Given the description of an element on the screen output the (x, y) to click on. 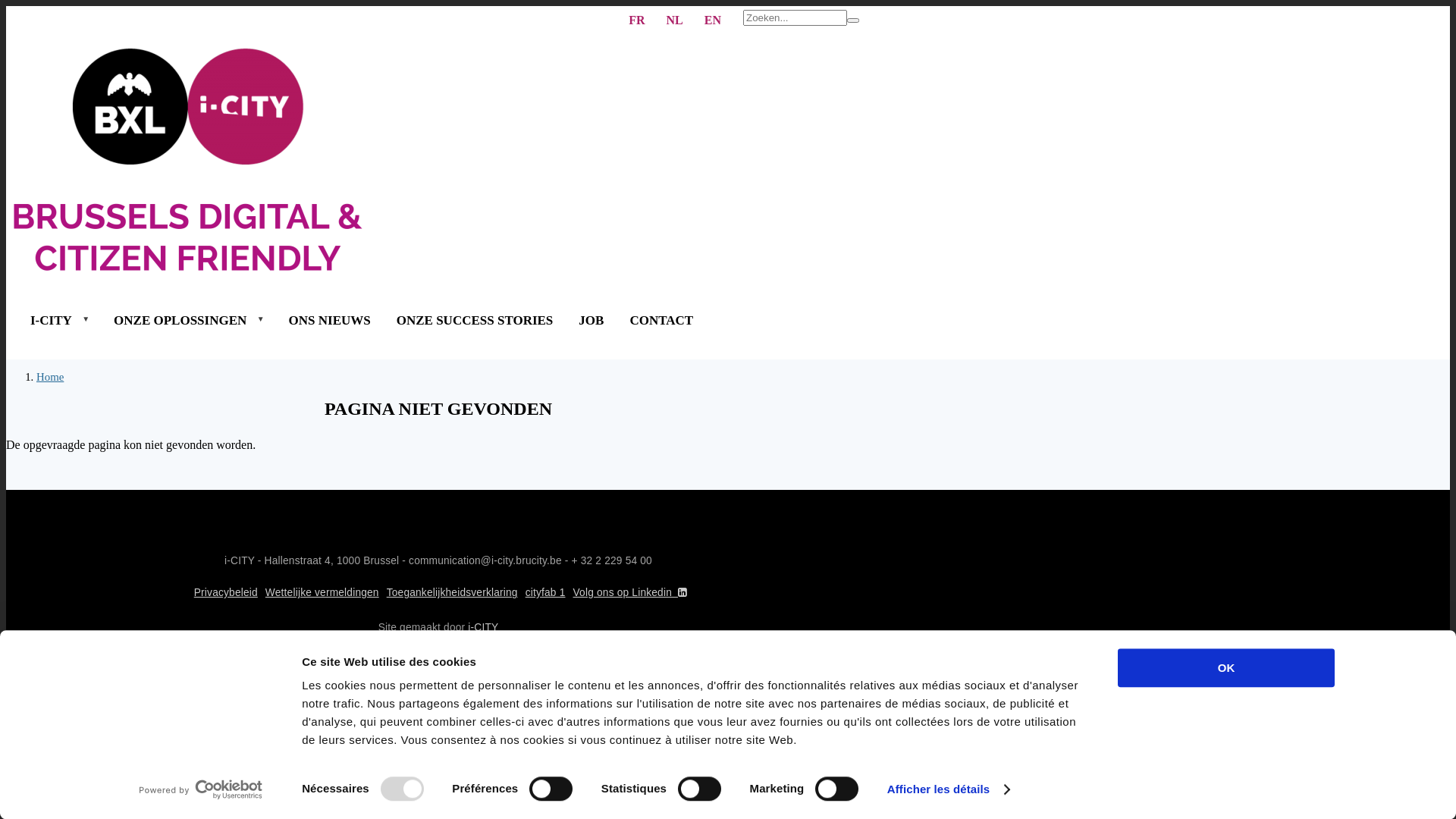
FR Element type: text (636, 19)
ONZE SUCCESS STORIES Element type: text (474, 320)
Geef de woorden op waarnaar u wilt zoeken. Element type: hover (795, 17)
Volg ons op Linkedin    Element type: text (631, 592)
Toegankelijkheidsverklaring Element type: text (451, 592)
Wettelijke vermeldingen Element type: text (322, 592)
Afbeelding Element type: text (438, 160)
Overslaan en naar de inhoud gaan Element type: text (728, 672)
Home Element type: text (49, 376)
cityfab 1 Element type: text (545, 592)
NL Element type: text (674, 19)
JOB Element type: text (590, 320)
ONS NIEUWS Element type: text (329, 320)
EN Element type: text (712, 19)
Zoeken Element type: text (853, 20)
i-CITY Element type: text (482, 627)
OK Element type: text (1225, 667)
Privacybeleid Element type: text (225, 592)
CONTACT Element type: text (661, 320)
